Given the description of an element on the screen output the (x, y) to click on. 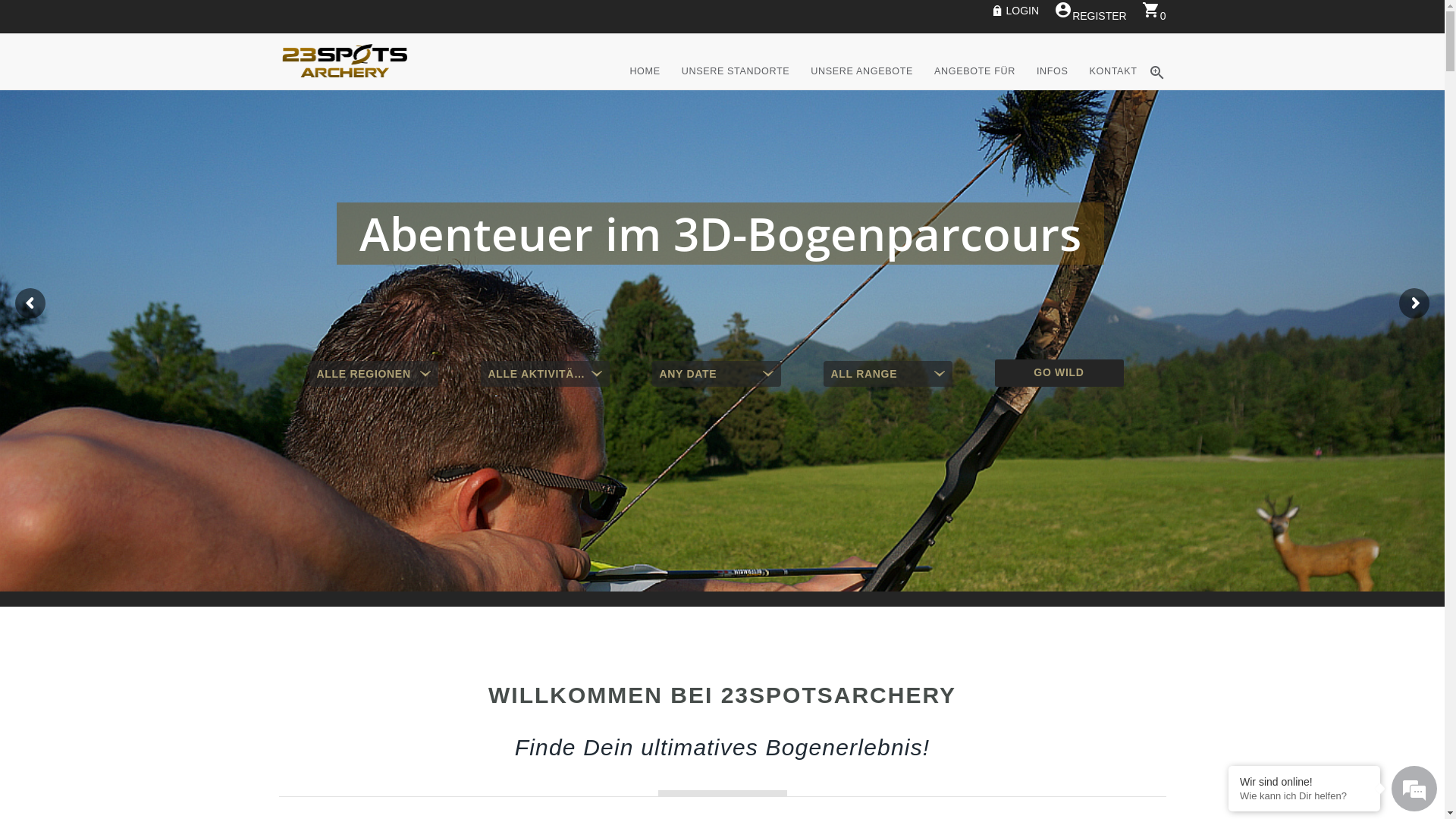
UNSERE STANDORTE Element type: text (735, 86)
zoom_in Element type: text (1157, 86)
KONTAKT Element type: text (1113, 86)
shopping_cart0 Element type: text (1154, 15)
INFOS Element type: text (1052, 86)
account_circleREGISTER Element type: text (1090, 15)
LOGIN Element type: text (1015, 9)
HOME Element type: text (644, 86)
GO WILD Element type: text (1058, 372)
UNSERE ANGEBOTE Element type: text (861, 86)
